Given the description of an element on the screen output the (x, y) to click on. 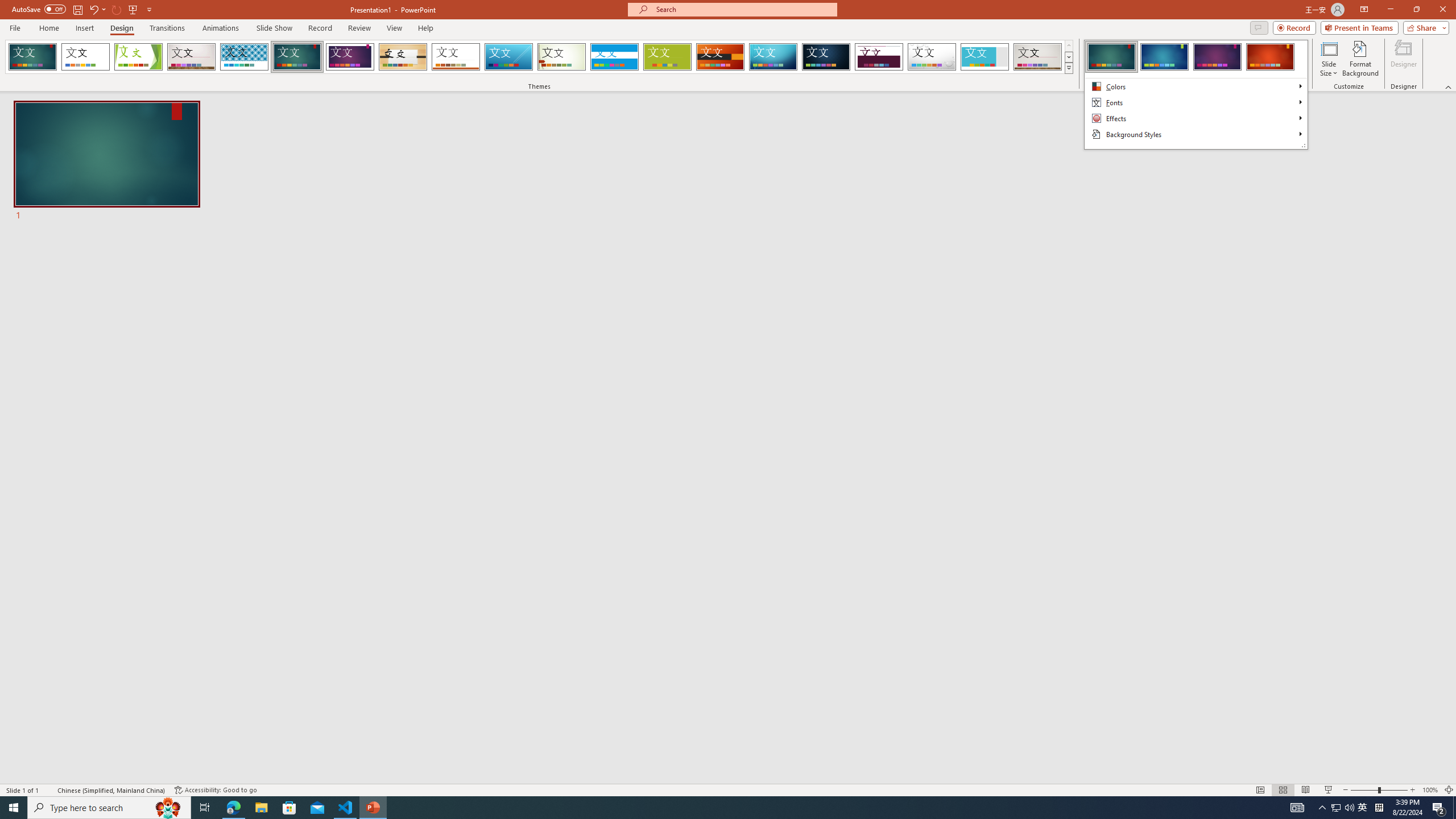
Ion Boardroom Loading Preview... (350, 56)
Wisp Loading Preview... (561, 56)
